Given the description of an element on the screen output the (x, y) to click on. 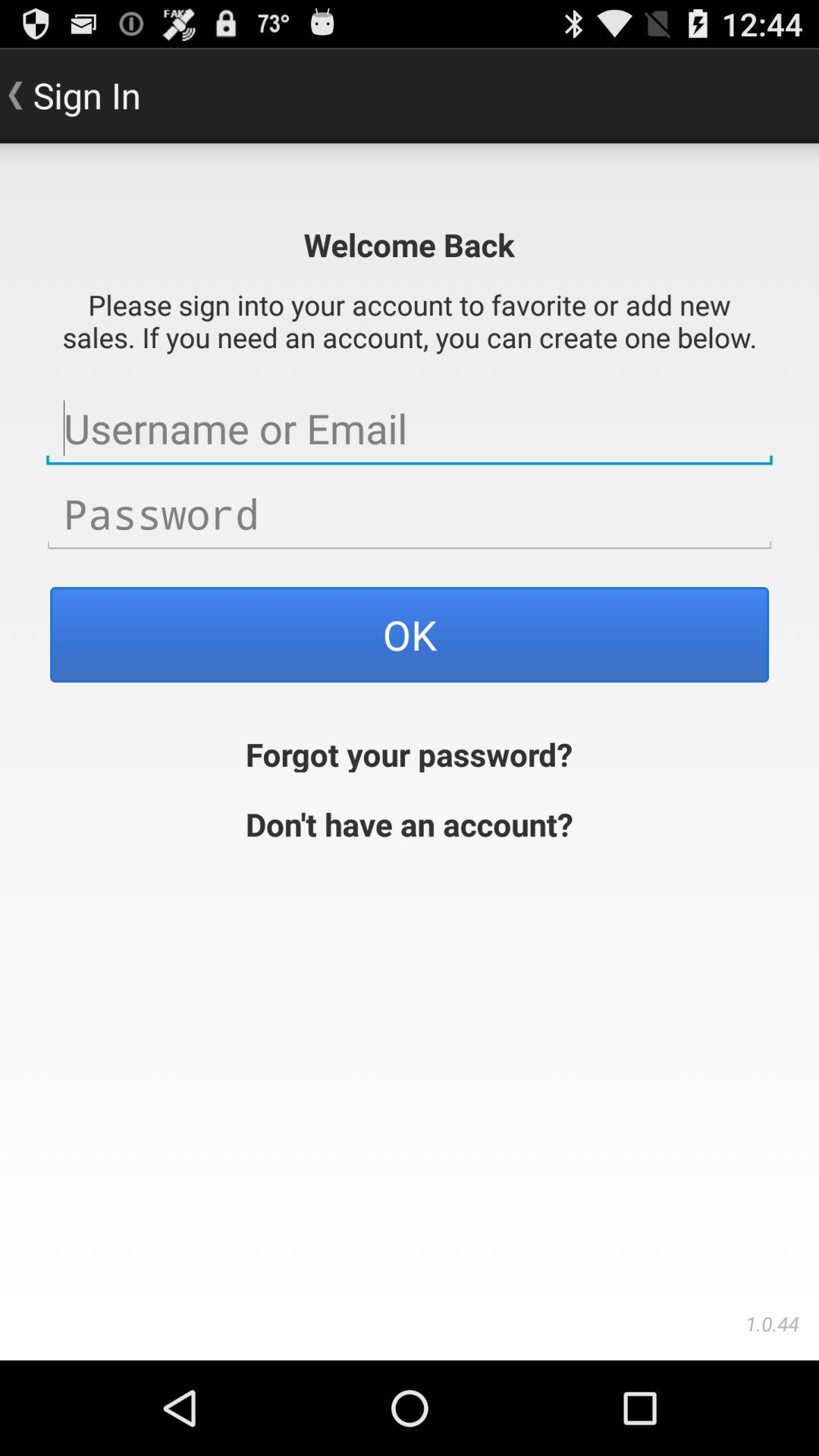
scroll until the don t have (409, 822)
